Given the description of an element on the screen output the (x, y) to click on. 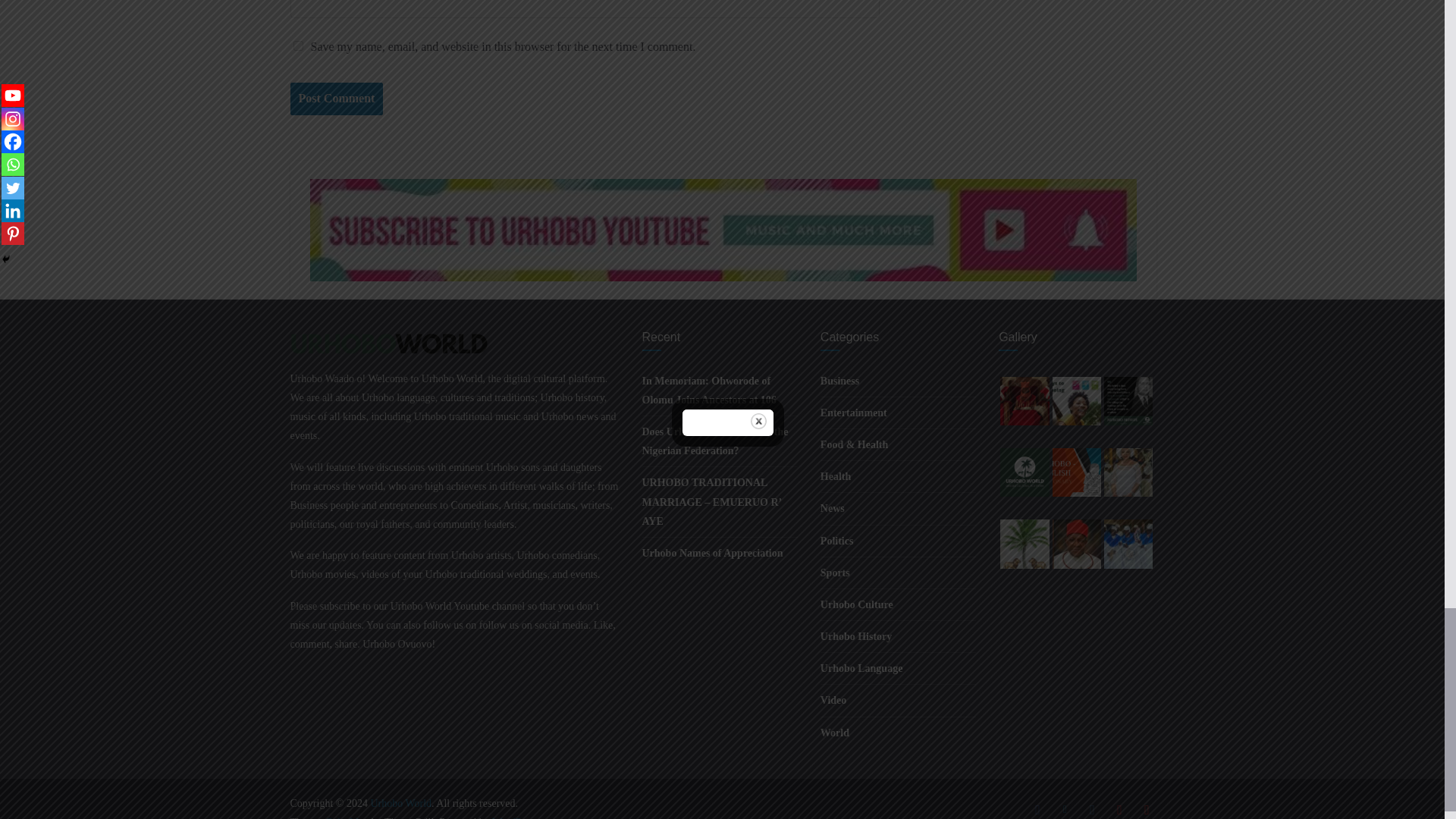
yes (297, 45)
Post Comment (335, 98)
